Given the description of an element on the screen output the (x, y) to click on. 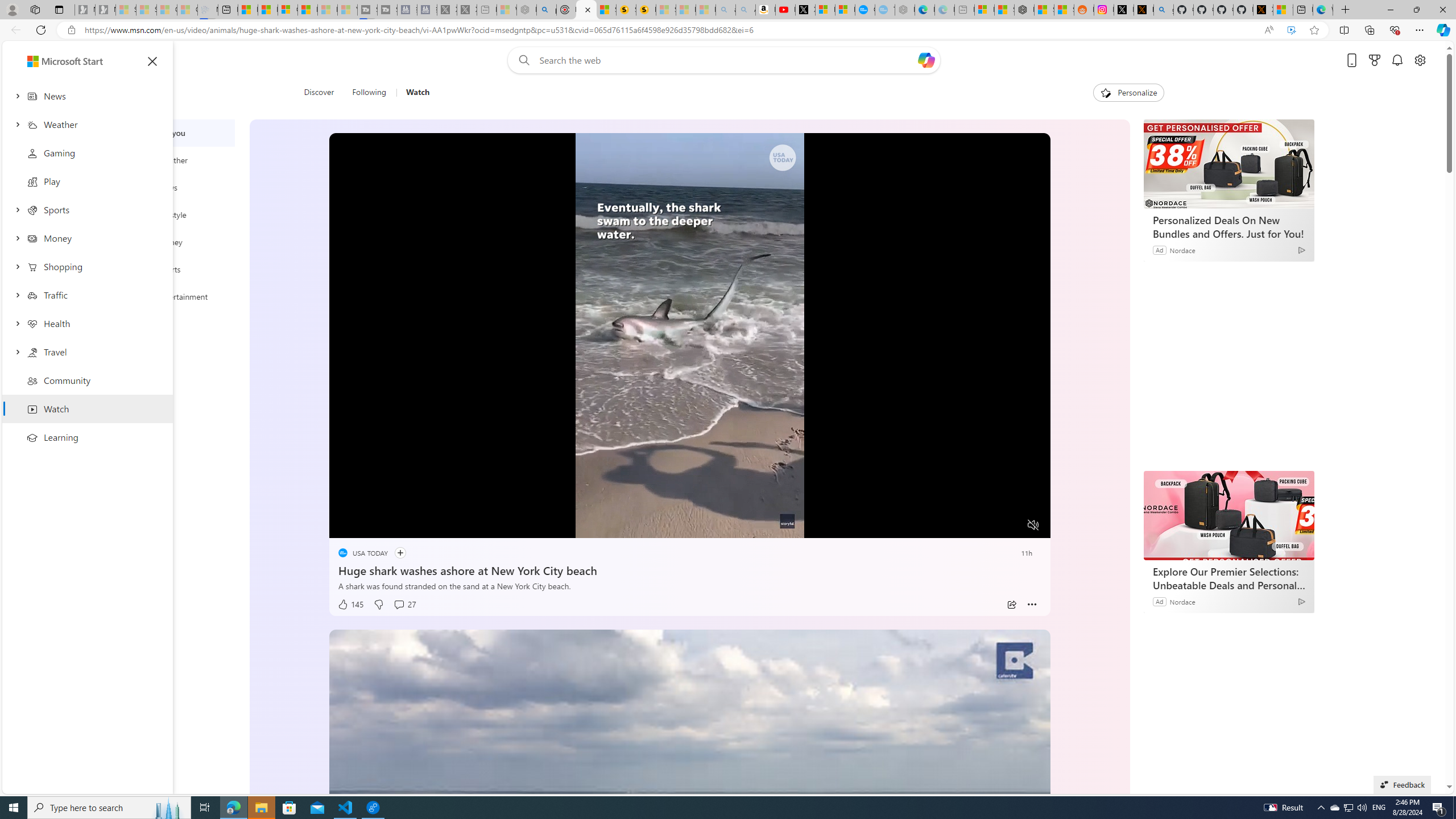
More (1031, 604)
Notifications (1397, 60)
Discover (323, 92)
Follow (400, 553)
Seek Forward (391, 525)
Day 1: Arriving in Yemen (surreal to be here) - YouTube (785, 9)
Wildlife - MSN - Sleeping (506, 9)
Close menu (151, 61)
